Given the description of an element on the screen output the (x, y) to click on. 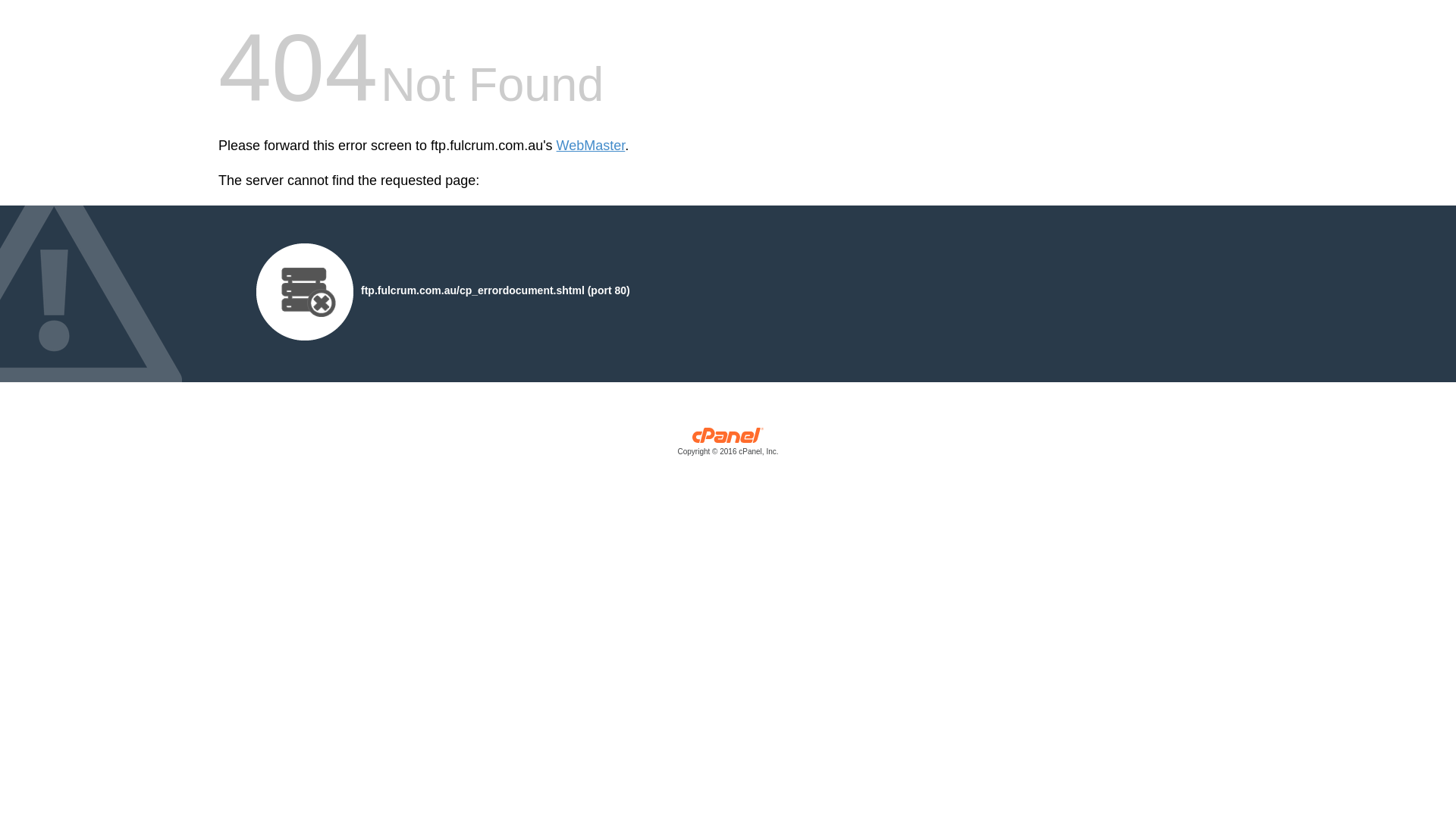
WebMaster Element type: text (590, 145)
